Given the description of an element on the screen output the (x, y) to click on. 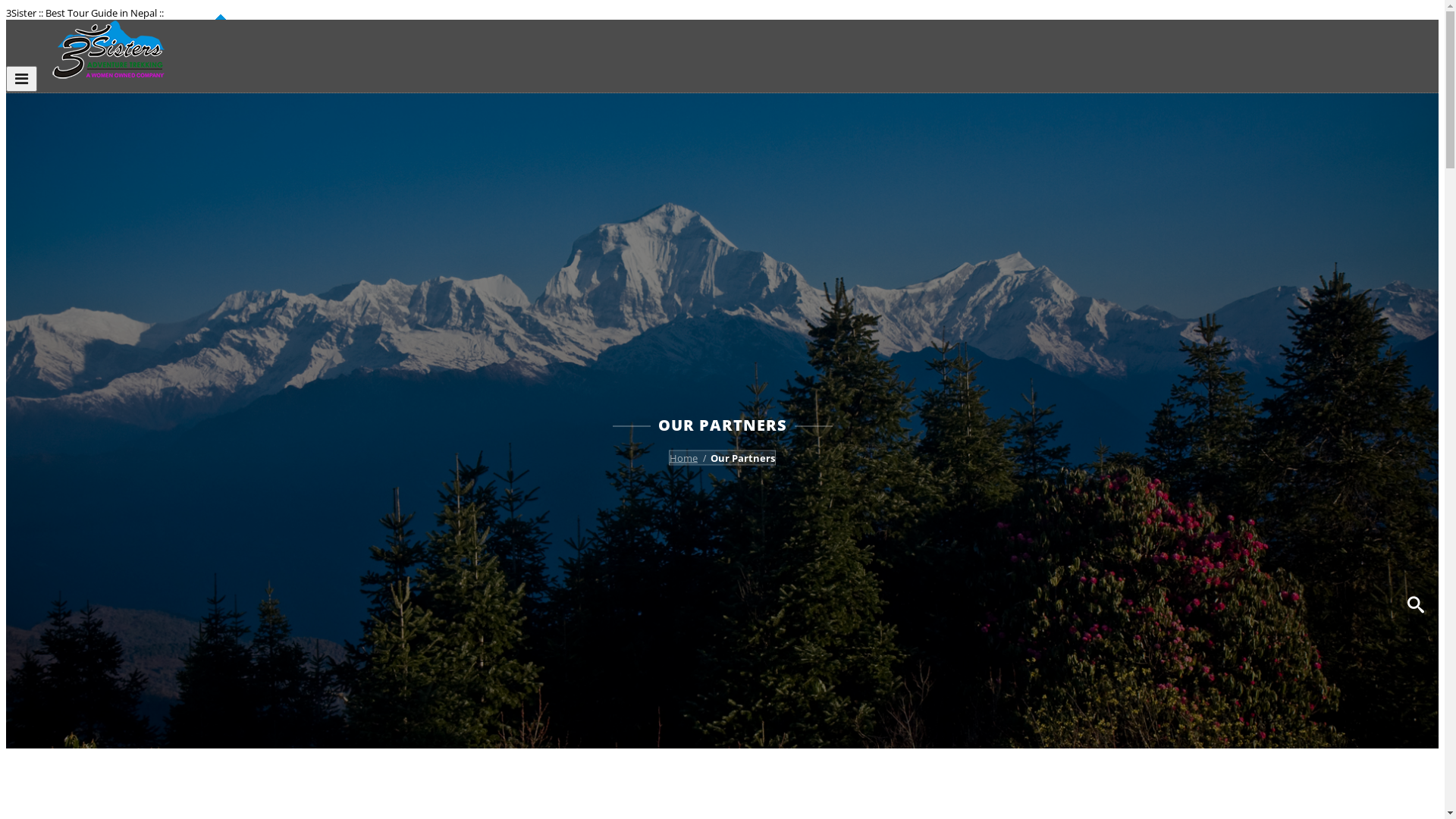
Nepal and Bhutan Element type: text (1325, 288)
Transportation Element type: text (1318, 369)
OUR SERVICES Element type: text (1324, 338)
HOME Element type: text (1300, 95)
River Rafting Element type: text (1312, 424)
Paragliding Element type: text (1308, 410)
Sightseeing Element type: text (1309, 437)
Tibet Element type: text (1294, 301)
FAQ Element type: text (1294, 474)
What to Bring Element type: text (1315, 505)
Company Overview Element type: text (1328, 125)
Jungle Safari Element type: text (1311, 396)
ABOUT US Element type: text (1312, 108)
Helicopter Tour Element type: text (1319, 383)
Trekking Form Element type: text (1316, 532)
Rock Climbing Element type: text (1316, 451)
Why 3 sisters? Element type: text (1316, 152)
Testimonials Element type: text (1312, 220)
Our Team Element type: text (1305, 207)
Certificate/Awards Element type: text (1326, 138)
TREKS Element type: text (1300, 244)
Toggle navigation Element type: text (21, 78)
Career Element type: text (1297, 234)
Bungee Jumping and Zip Lining Element type: text (1356, 465)
Guest House Element type: text (1313, 355)
Temperature Element type: text (1313, 518)
Trek Calendar Element type: text (1315, 329)
CONTACT US Element type: text (1319, 556)
Our Partners Element type: text (1313, 193)
General Question Element type: text (1324, 491)
Home Element type: text (683, 457)
BLOG Element type: text (1299, 542)
Empowering Women of Nepal Element type: text (1354, 166)
India Element type: text (1294, 315)
Gallery Element type: text (1298, 179)
Bhutan Element type: text (1299, 274)
Nepal Element type: text (1295, 261)
